Given the description of an element on the screen output the (x, y) to click on. 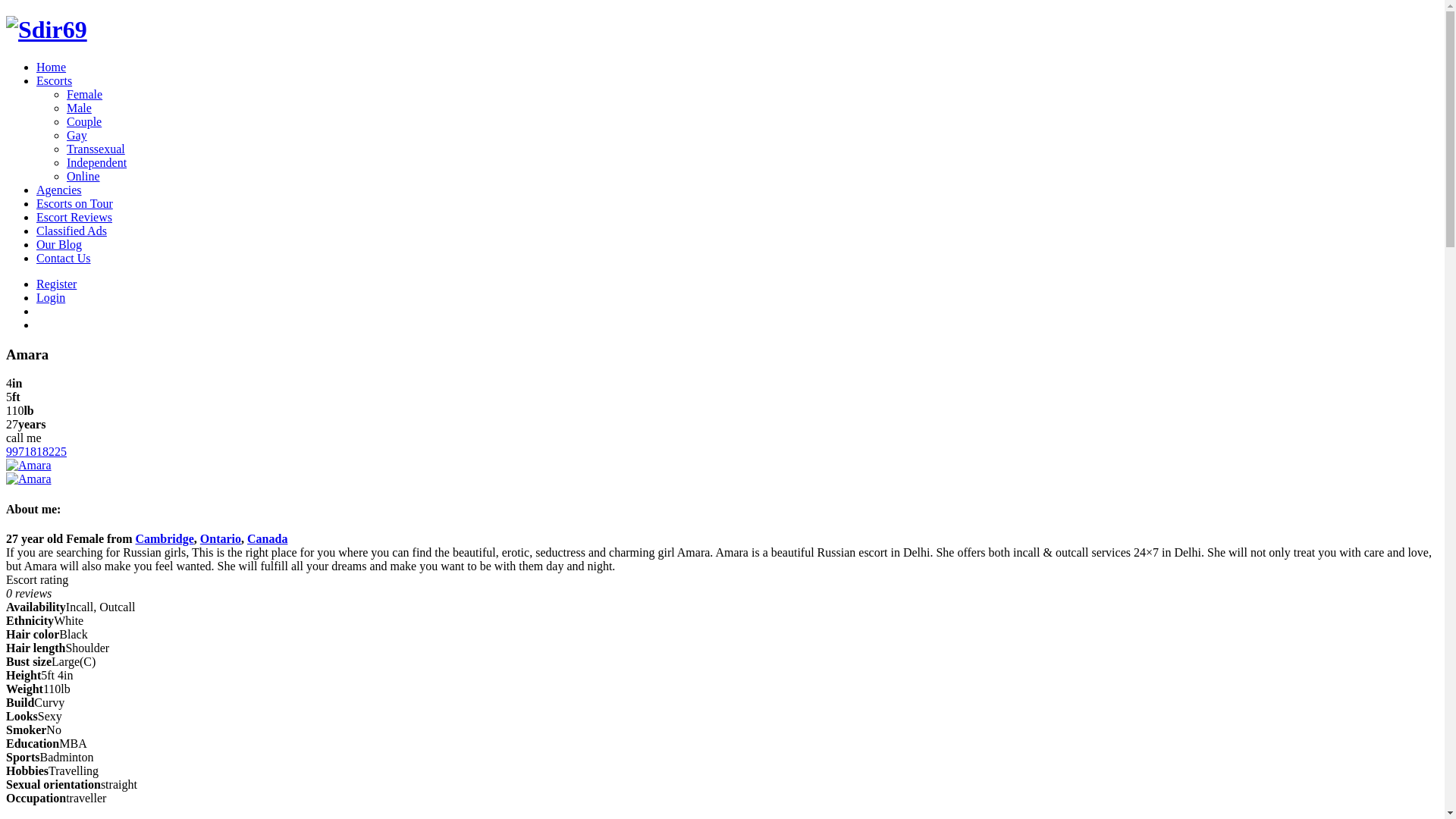
Home Element type: text (50, 66)
Classified Ads Element type: text (71, 230)
Independent Element type: text (96, 162)
Escorts Element type: text (54, 80)
Online Element type: text (83, 175)
Escorts on Tour Element type: text (74, 203)
Sdir69 Element type: hover (46, 29)
Gay Element type: text (76, 134)
Login Element type: text (50, 297)
Female Element type: text (84, 93)
Canada Element type: text (267, 538)
Contact Us Element type: text (63, 257)
Ontario Element type: text (220, 538)
Couple Element type: text (83, 121)
Our Blog Element type: text (58, 244)
Transsexual Element type: text (95, 148)
Agencies Element type: text (58, 189)
Male Element type: text (78, 107)
Escort Reviews Element type: text (74, 216)
Register Element type: text (56, 283)
Cambridge Element type: text (163, 538)
9971818225 Element type: text (36, 451)
